Given the description of an element on the screen output the (x, y) to click on. 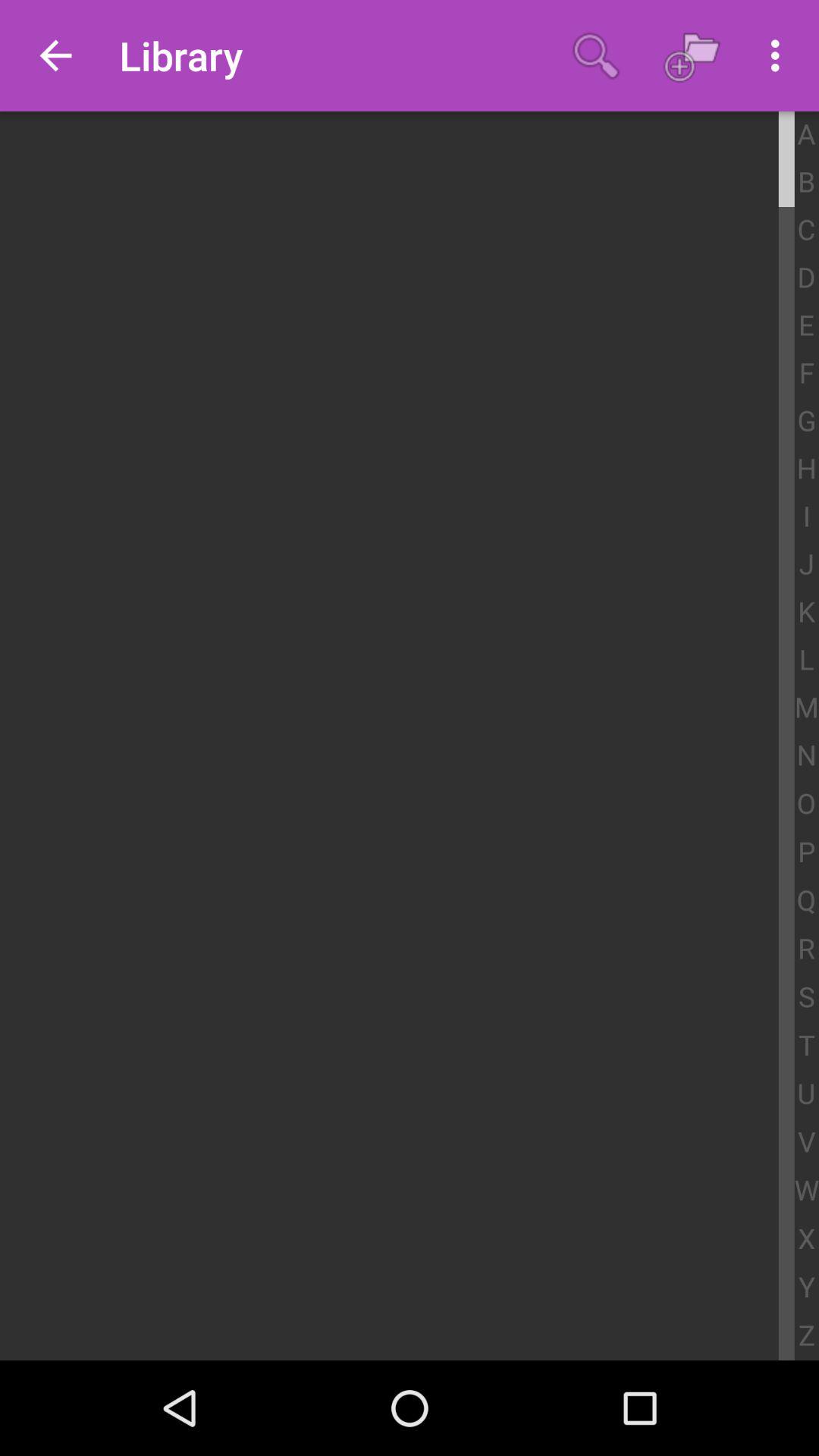
tap the v item (806, 1142)
